Given the description of an element on the screen output the (x, y) to click on. 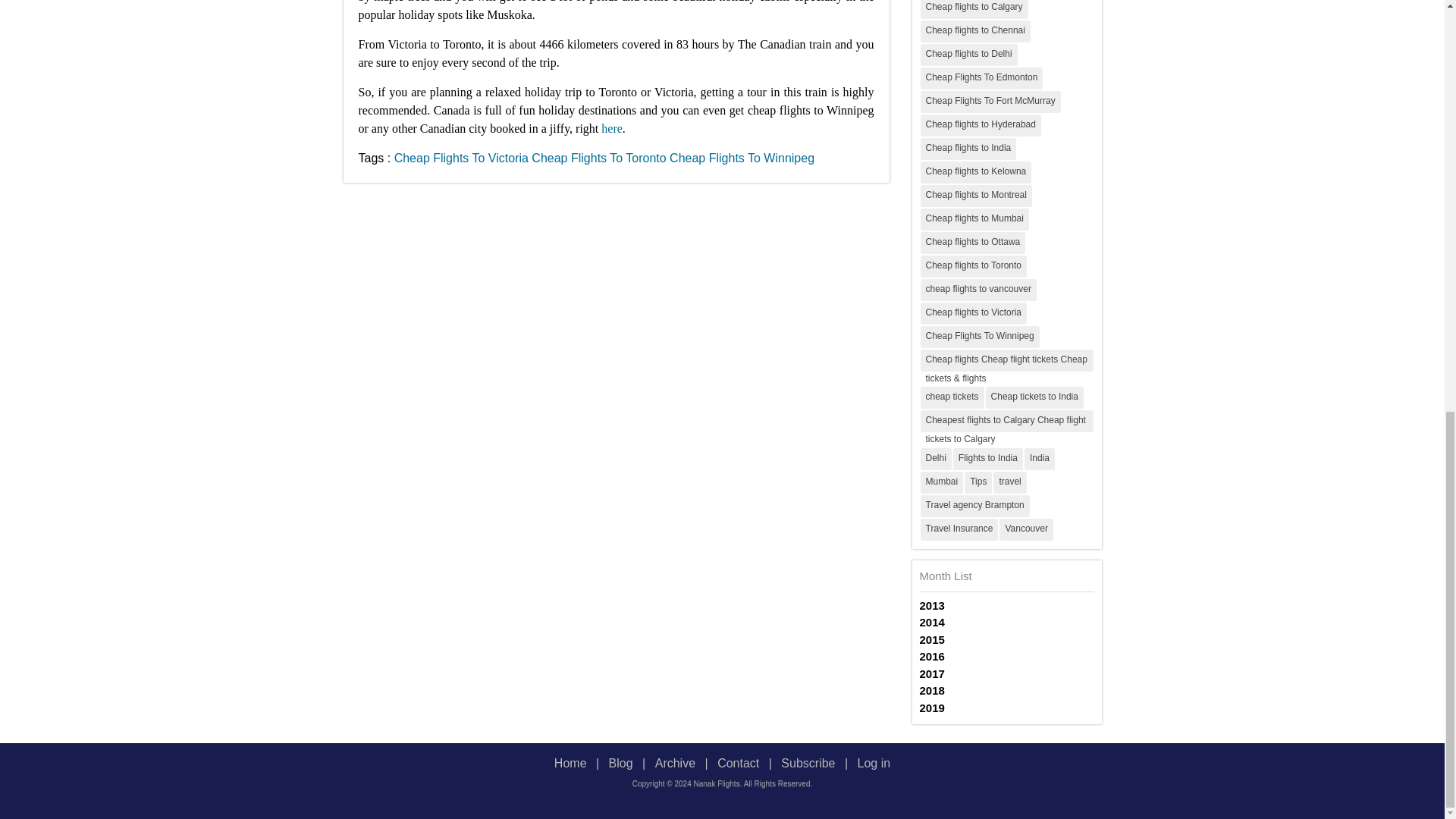
Cheap Flights To Fort McMurray (990, 101)
Cheap flights to Hyderabad (980, 124)
here (612, 127)
Cheap flights to Chennai (975, 30)
Cheap flights to Delhi (968, 55)
Cheap flights to India (968, 148)
Cheap flights to Kelowna (976, 171)
Cheap flights to Calgary (973, 9)
Cheap Flights To Edmonton (981, 77)
Cheap flights to Montreal (976, 196)
